Given the description of an element on the screen output the (x, y) to click on. 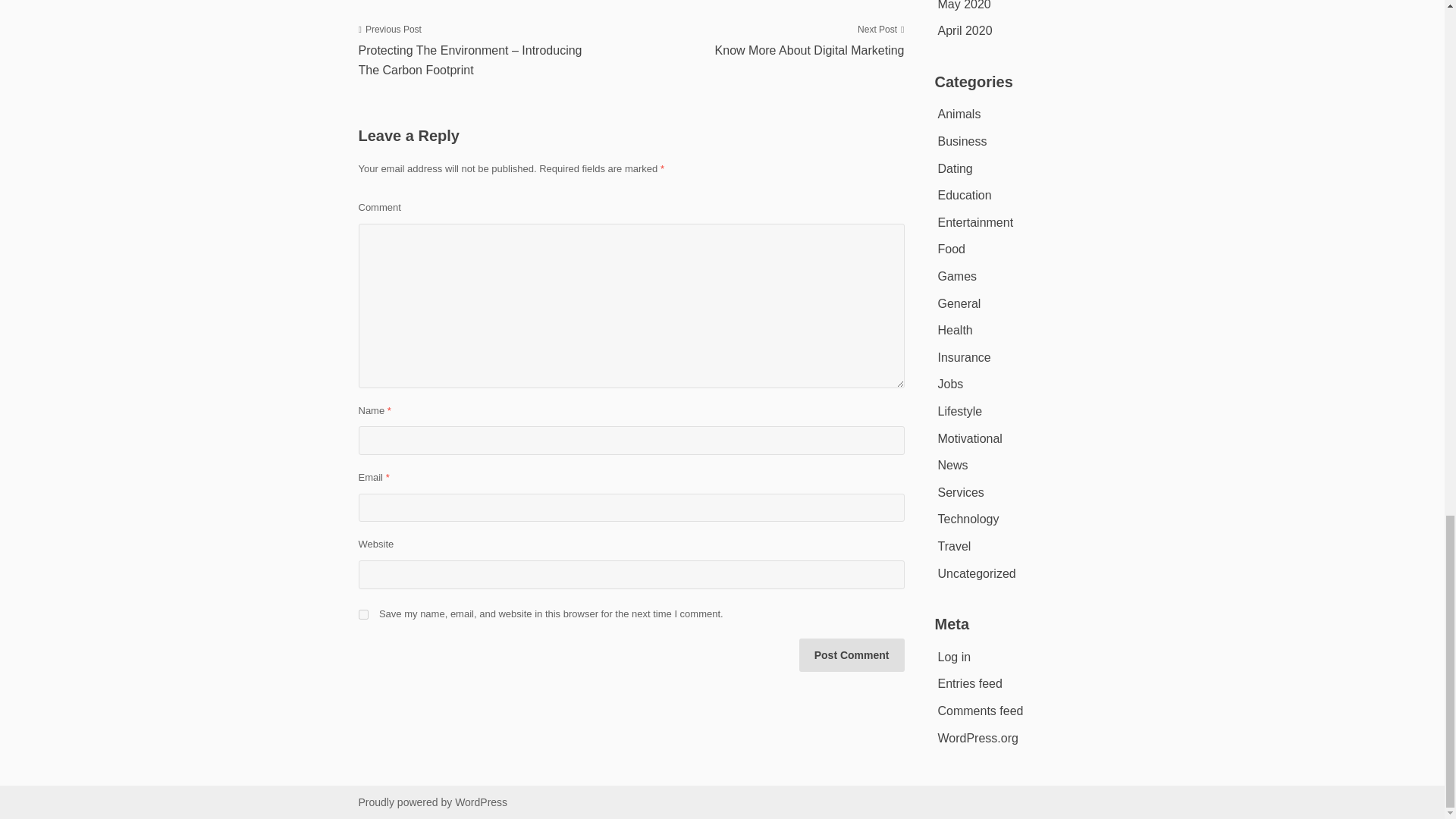
yes (363, 614)
Post Comment (781, 39)
Post Comment (851, 654)
